Given the description of an element on the screen output the (x, y) to click on. 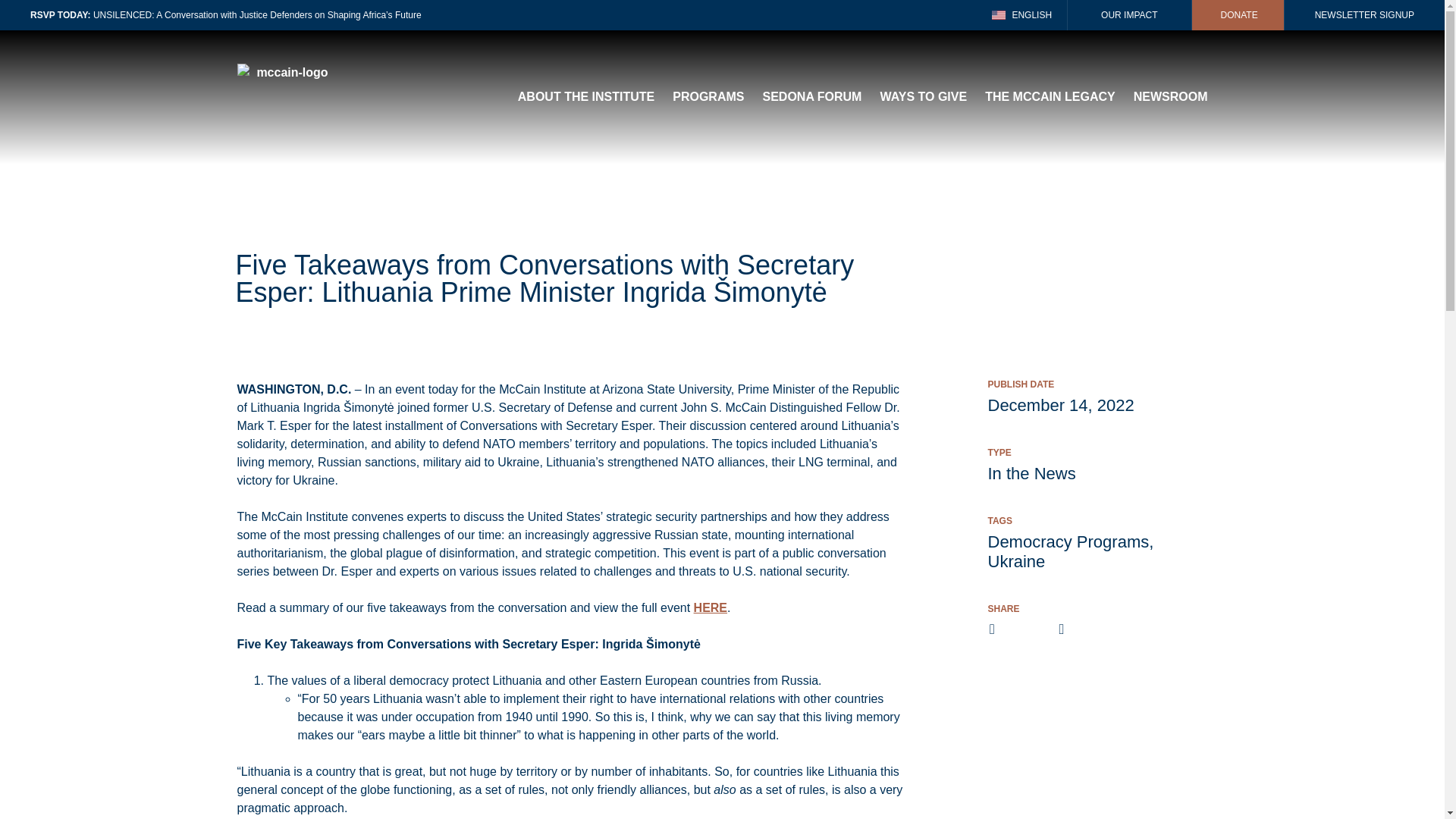
ENGLISH (1021, 15)
English (1021, 15)
PROGRAMS (708, 96)
ABOUT THE INSTITUTE (585, 96)
SEDONA FORUM (811, 96)
OUR IMPACT (1129, 15)
WAYS TO GIVE (922, 96)
DONATE (1238, 15)
